Given the description of an element on the screen output the (x, y) to click on. 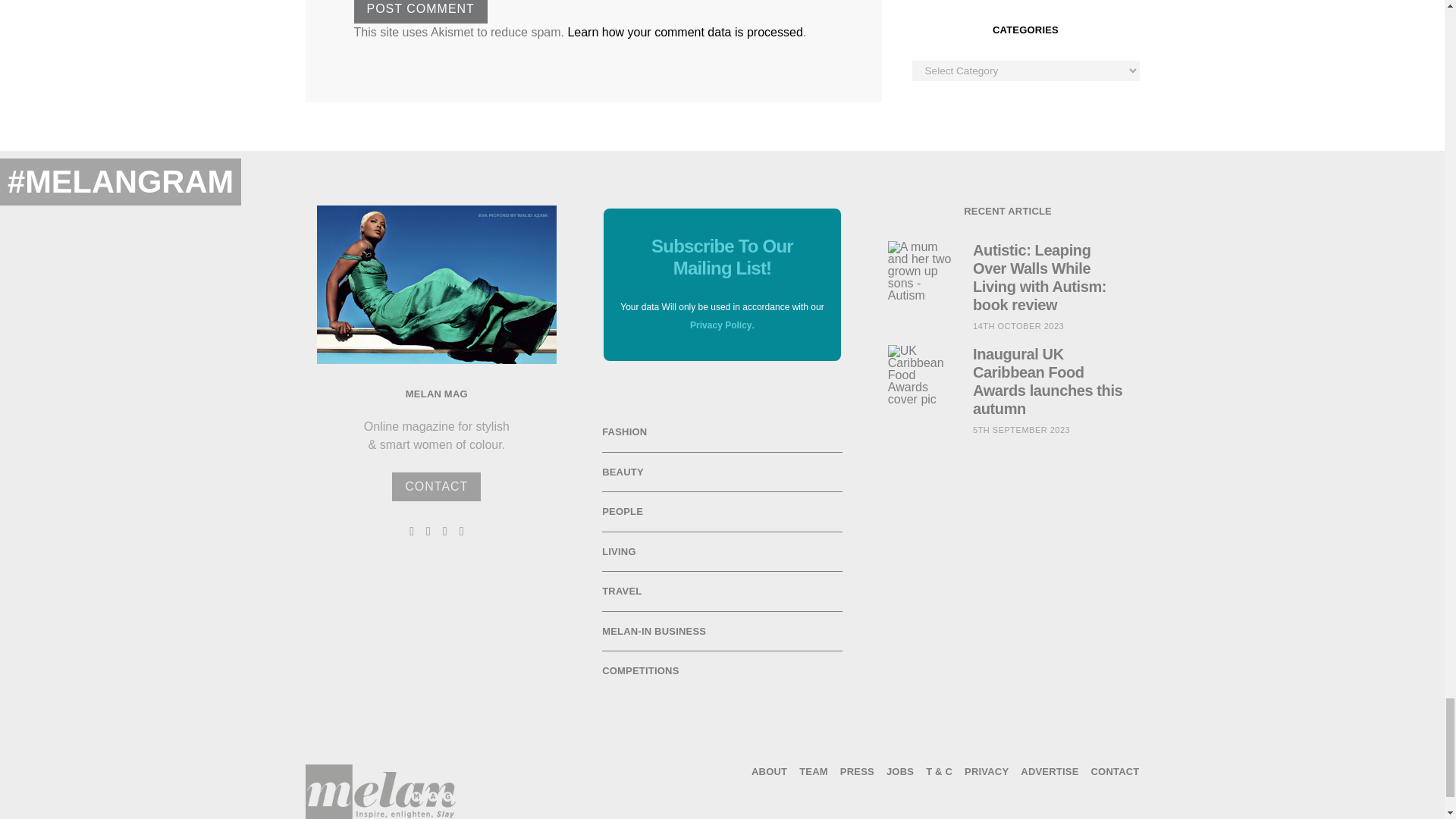
Post Comment (419, 11)
